Given the description of an element on the screen output the (x, y) to click on. 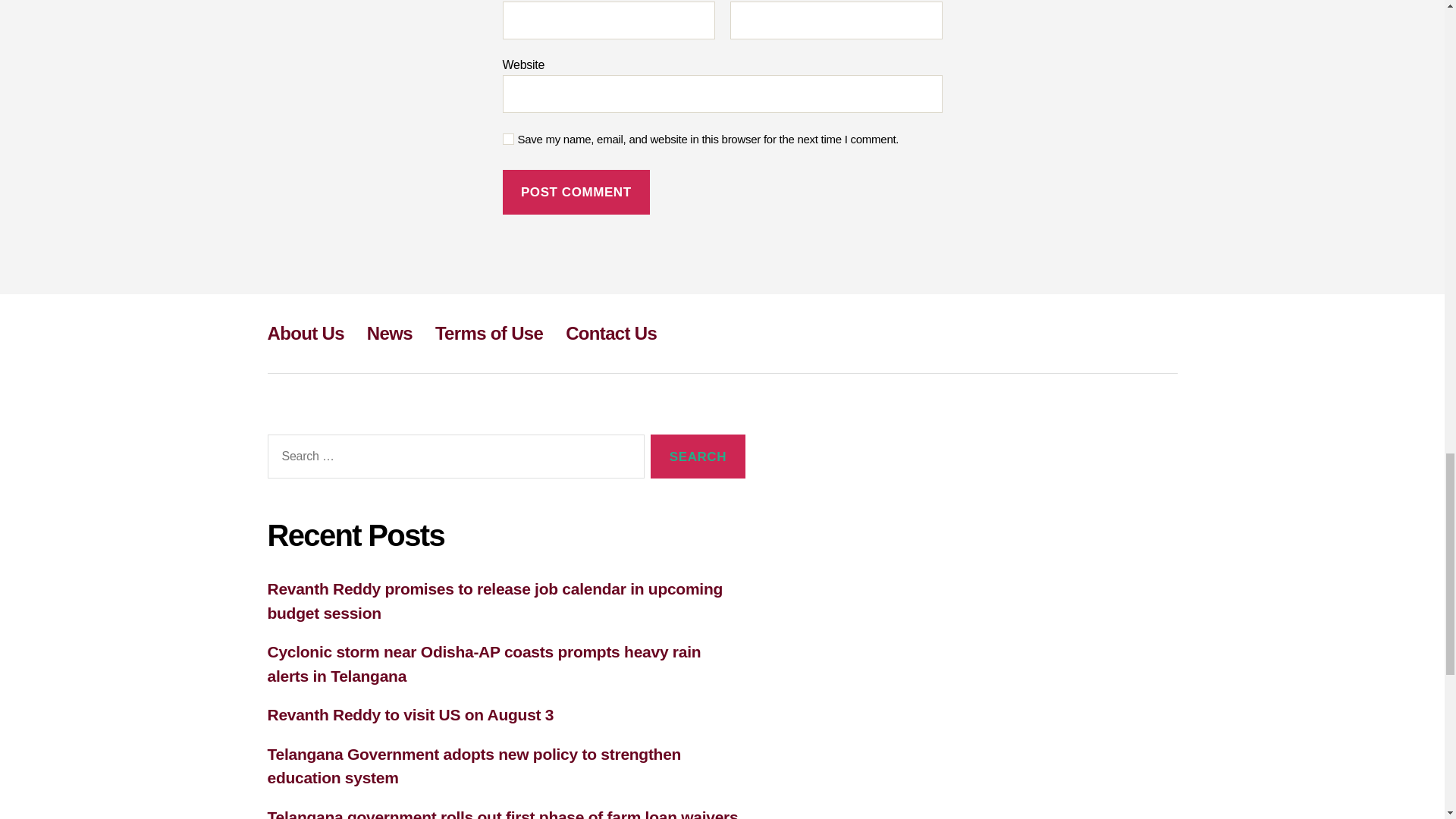
Post Comment (575, 191)
About Us (304, 332)
yes (507, 138)
Search (697, 456)
Post Comment (575, 191)
Search (697, 456)
